Given the description of an element on the screen output the (x, y) to click on. 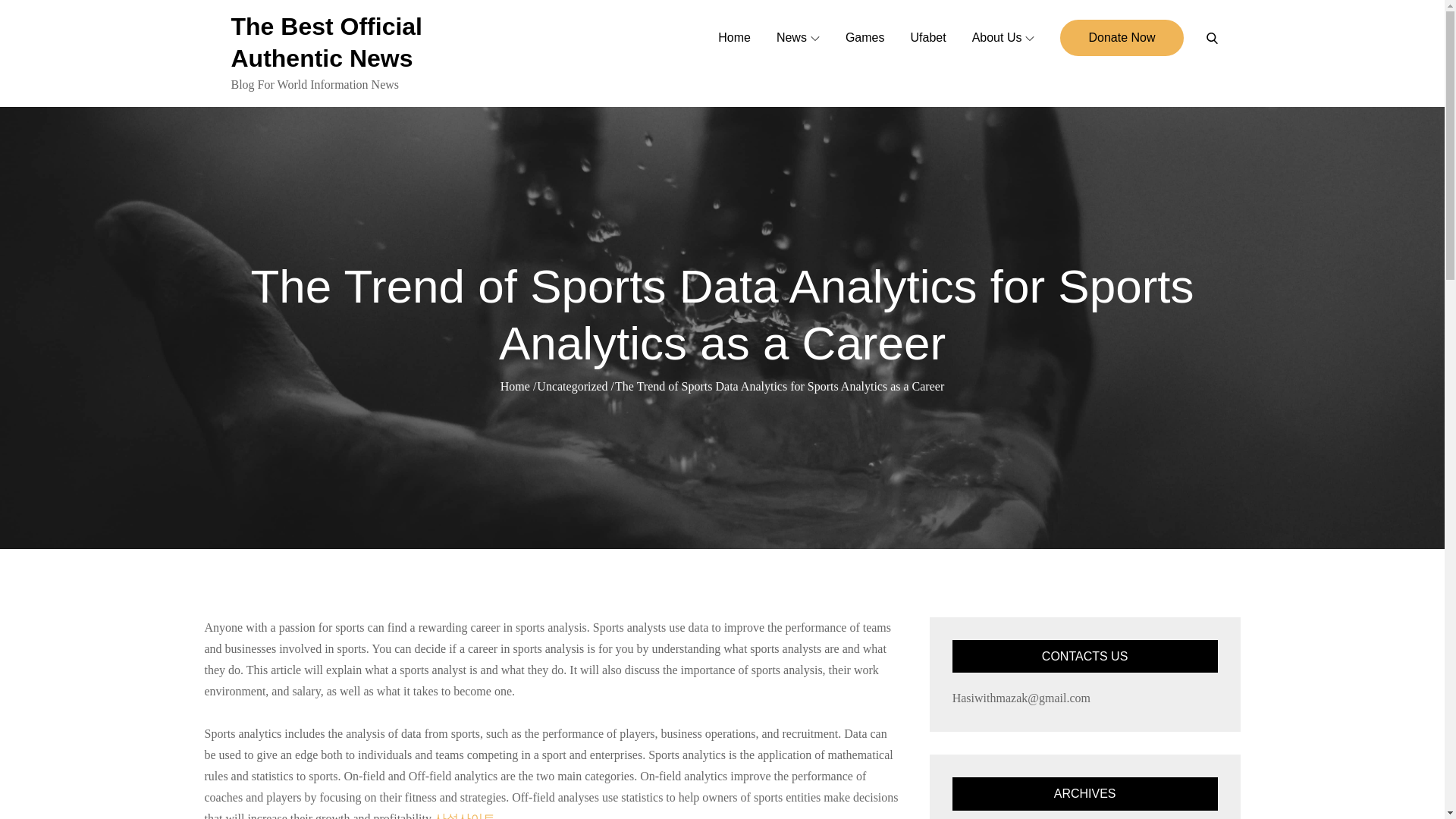
Games (865, 37)
Uncategorized (572, 386)
News (797, 37)
Ufabet (927, 37)
About Us (1003, 37)
Home (734, 37)
Home (514, 386)
Donate Now (1120, 37)
The Best Official Authentic News (326, 42)
